Given the description of an element on the screen output the (x, y) to click on. 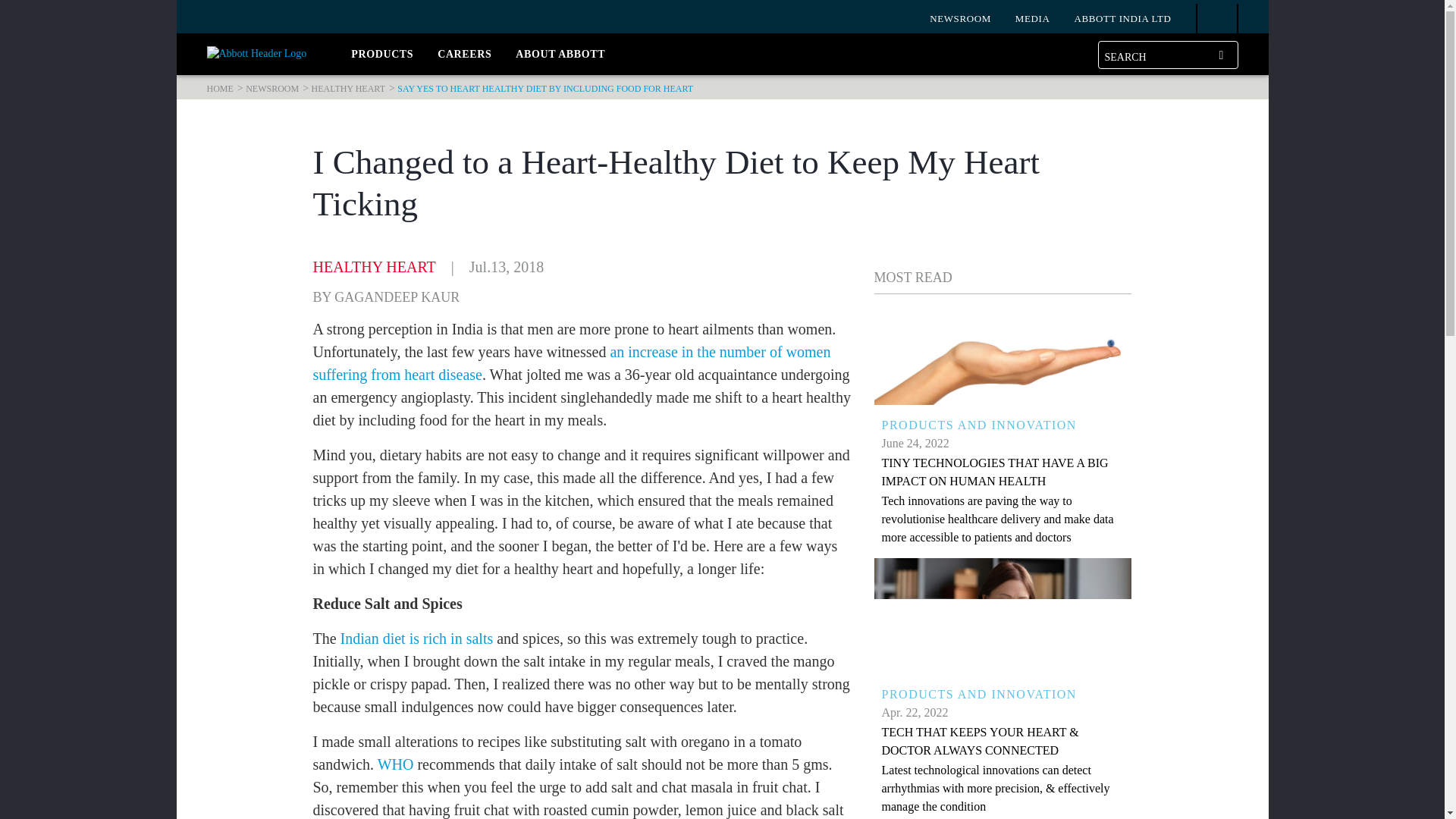
MEDIA (1031, 17)
CAREERS (465, 56)
NEWSROOM (960, 17)
PRODUCTS (381, 56)
Healthy Heart (348, 88)
Home (219, 88)
Newsroom (272, 88)
ABOUT ABBOTT (560, 56)
